Given the description of an element on the screen output the (x, y) to click on. 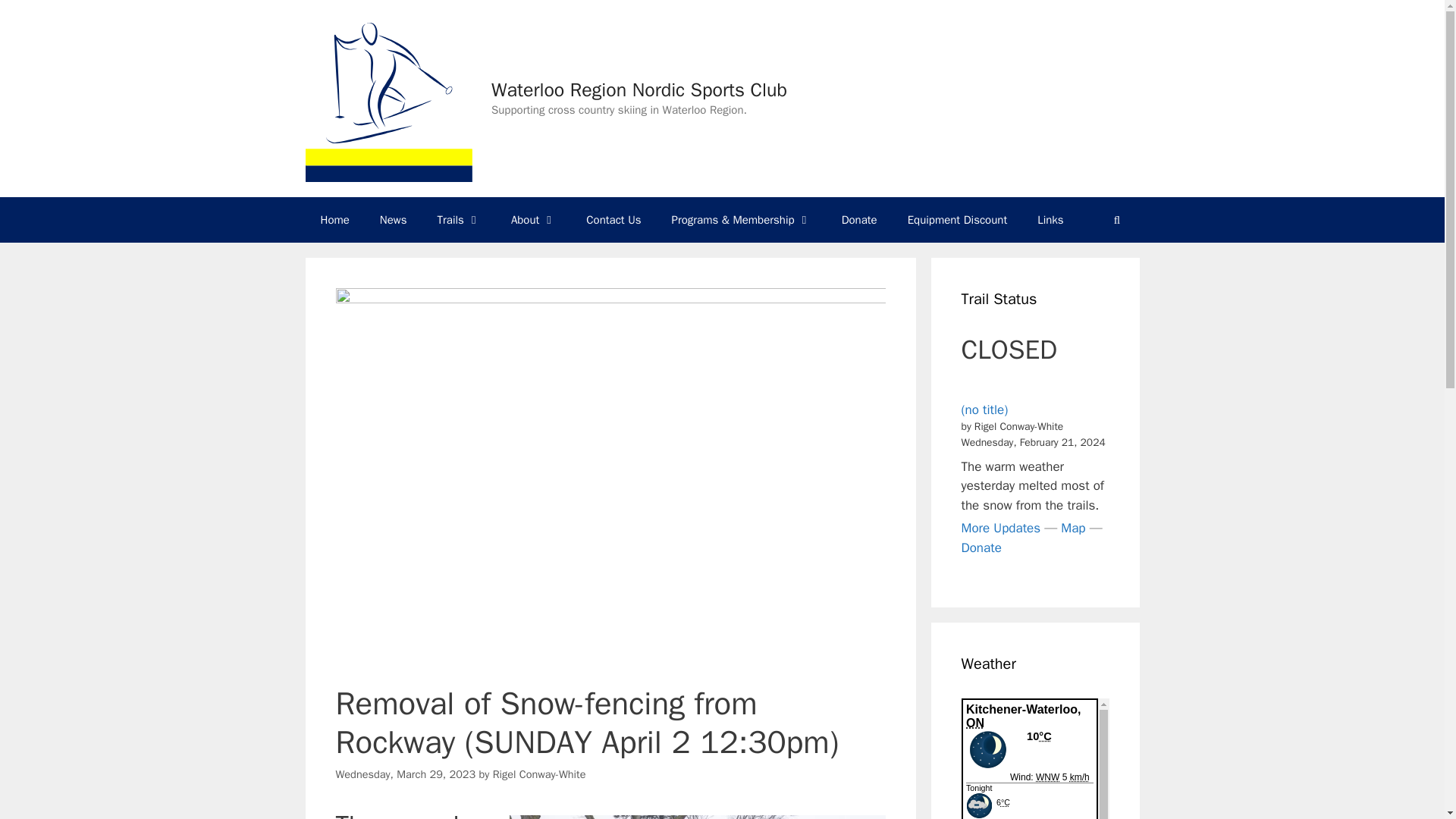
Contact Us (613, 219)
Donate (859, 219)
View all posts by Rigel Conway-White (539, 774)
About (533, 219)
Waterloo Region Nordic Sports Club (639, 89)
Home (334, 219)
Rigel Conway-White (539, 774)
Links (1050, 219)
Trails (459, 219)
Environment Canada Weather (1034, 758)
